Given the description of an element on the screen output the (x, y) to click on. 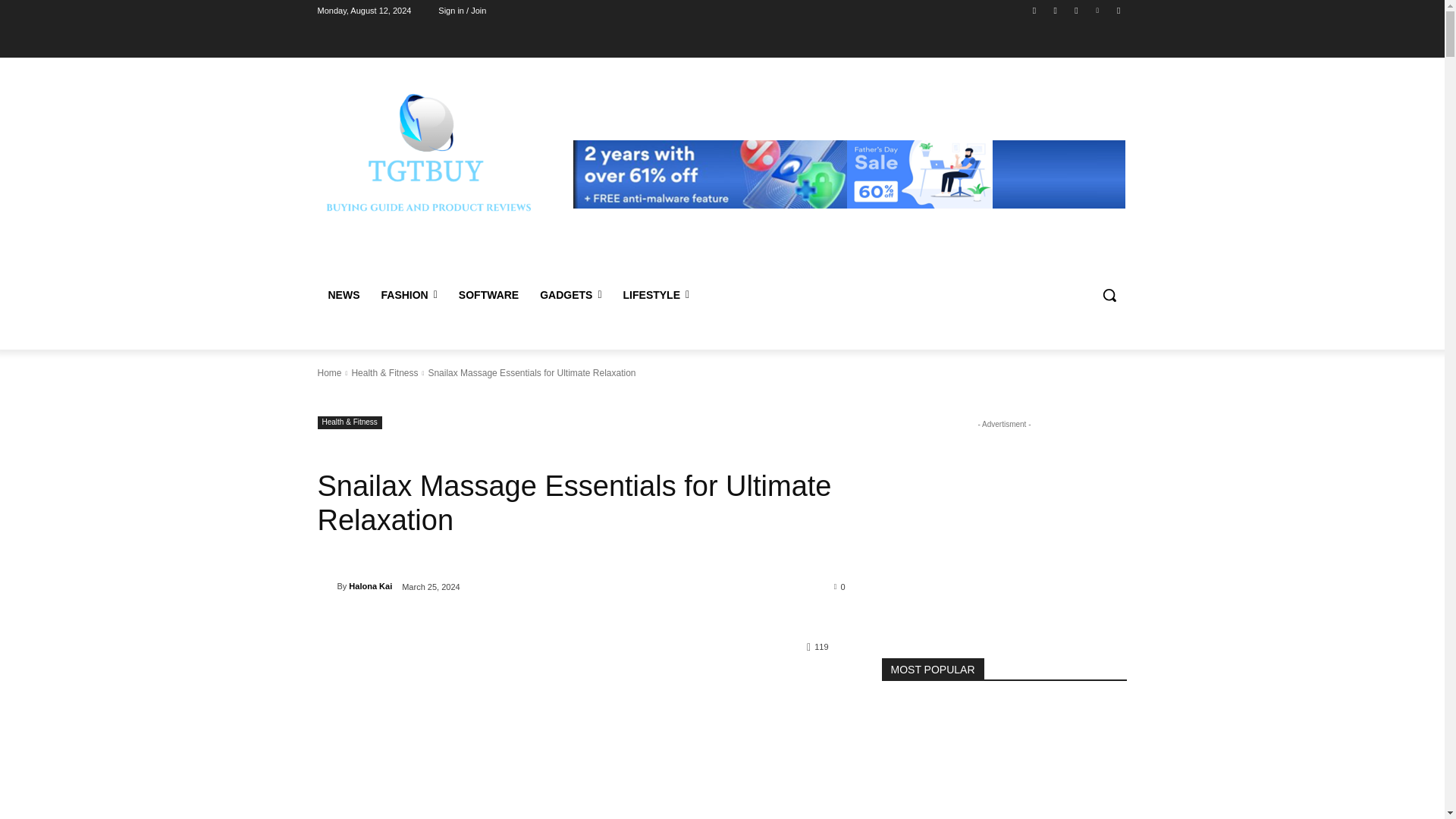
NEWS (343, 294)
GADGETS (570, 294)
Twitter (1075, 9)
Facebook (1034, 9)
Instagram (1055, 9)
FASHION (407, 294)
Vimeo (1097, 9)
Youtube (1117, 9)
SOFTWARE (488, 294)
